Given the description of an element on the screen output the (x, y) to click on. 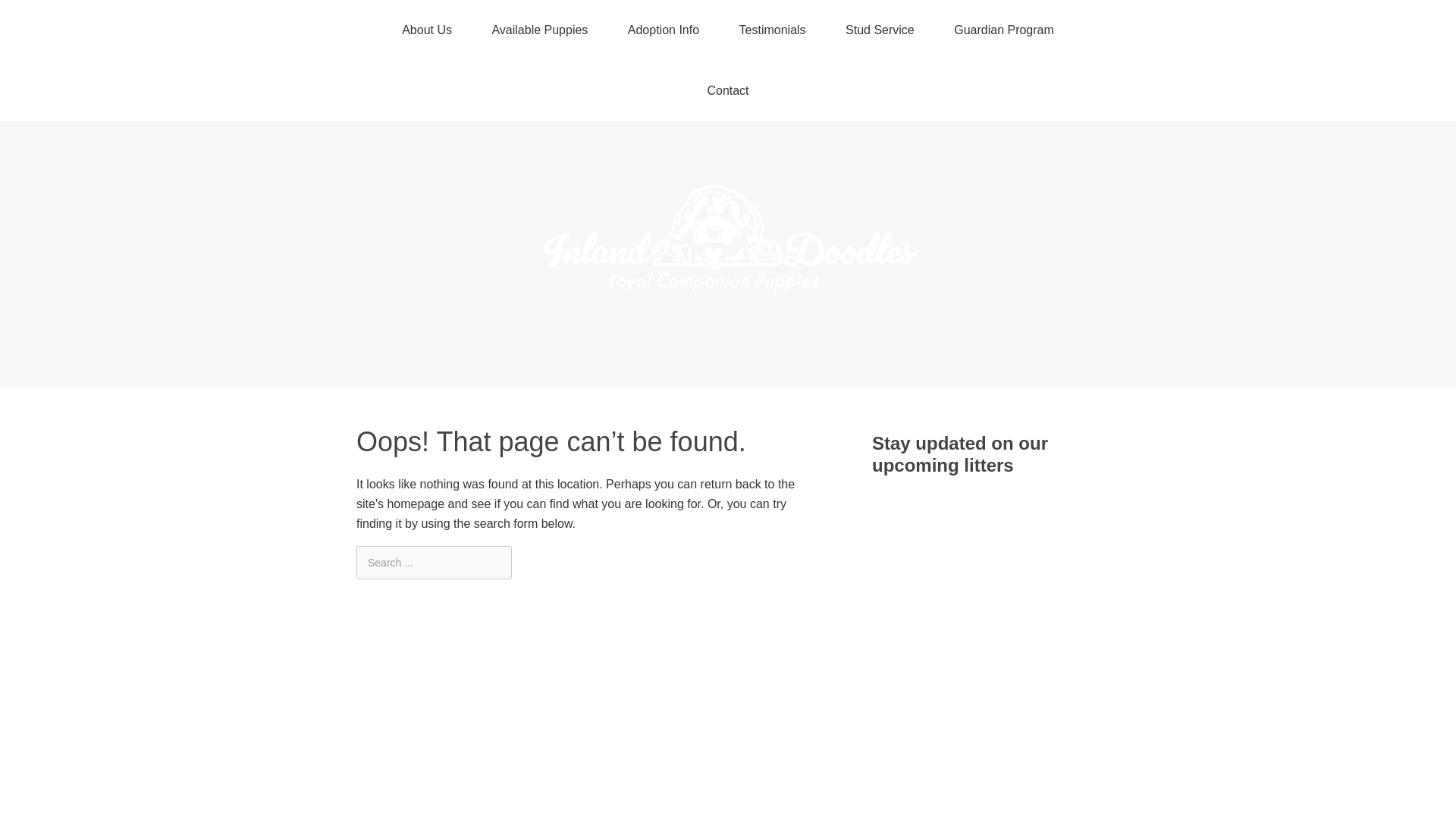
Testimonials (772, 30)
Search for: (434, 562)
Available Puppies (539, 30)
Contact (727, 90)
Guardian Program (1003, 30)
Inland Doodles (728, 308)
Adoption Info (663, 30)
Stud Service (880, 30)
About Us (427, 30)
homepage (415, 503)
